Given the description of an element on the screen output the (x, y) to click on. 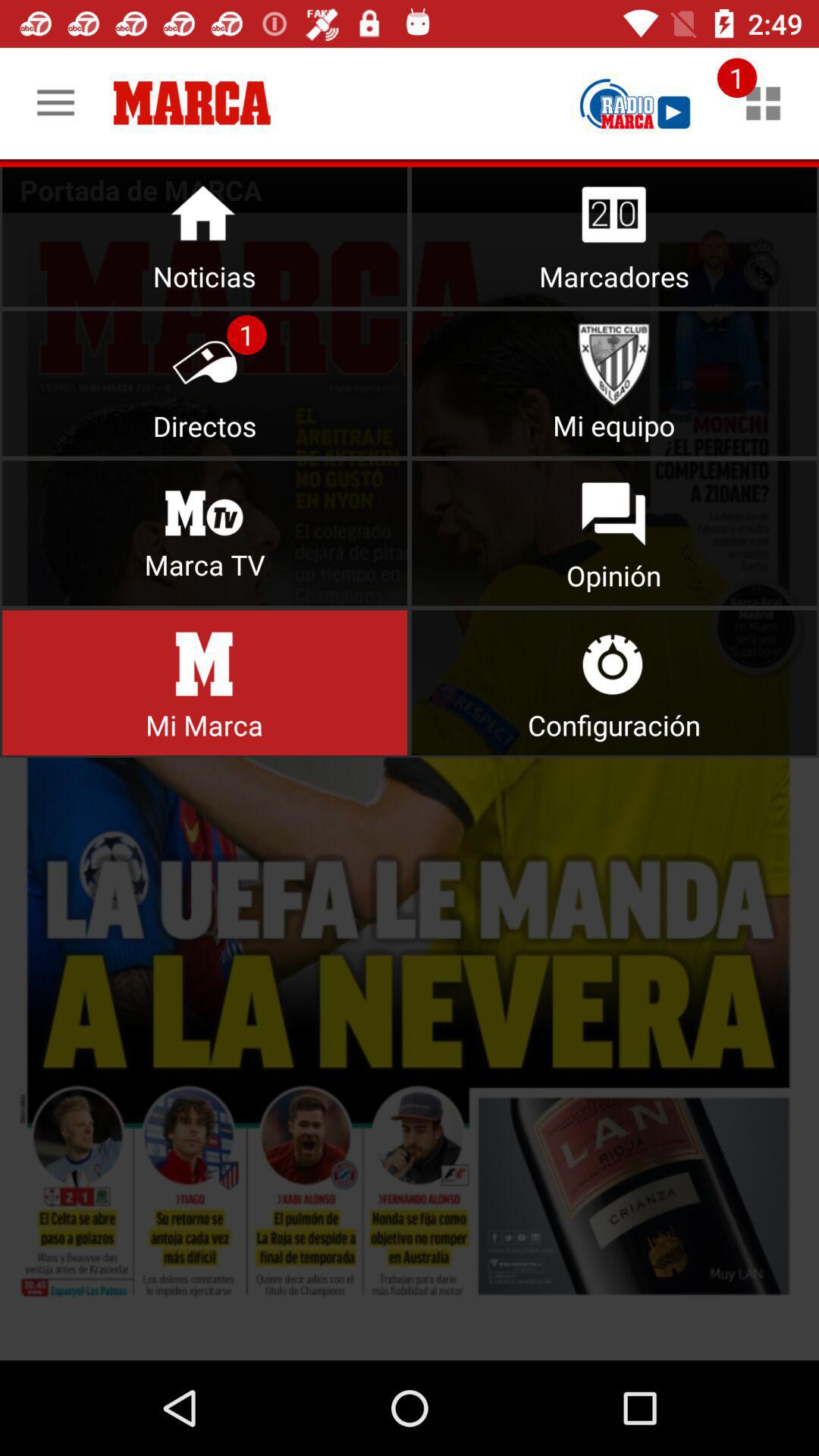
open scores (614, 233)
